Given the description of an element on the screen output the (x, y) to click on. 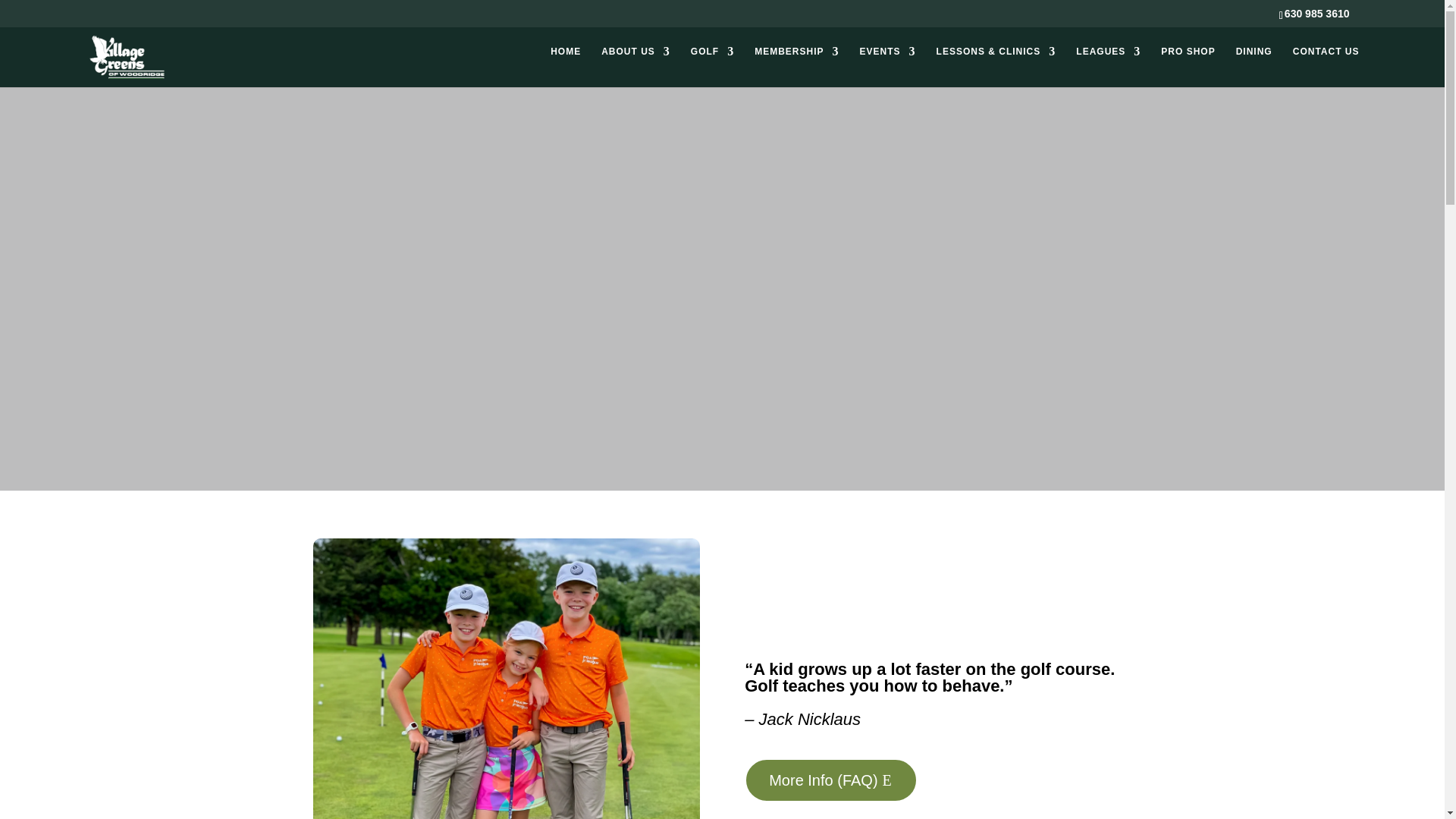
GOLF (711, 65)
PRO SHOP (1187, 65)
MEMBERSHIP (796, 65)
ABOUT US (635, 65)
CONTACT US (1325, 65)
LEAGUES (1107, 65)
EVENTS (887, 65)
630 985 3610 (1316, 13)
